Given the description of an element on the screen output the (x, y) to click on. 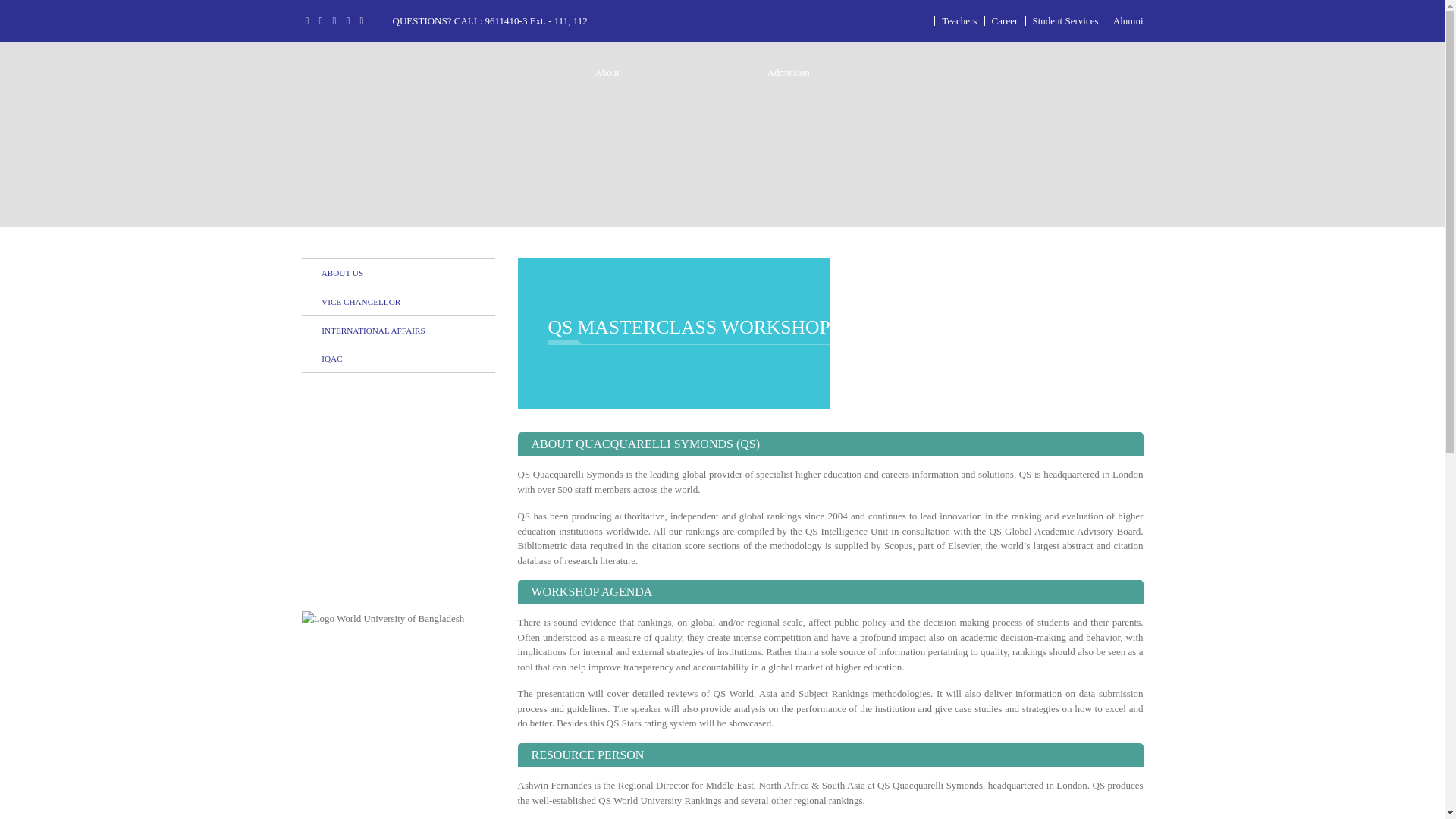
World University Bangladesh Facebook Page (307, 20)
World University Bangladesh Google Plus Page (334, 20)
World University Bangladesh Twitter Page (320, 20)
World University Bangladesh Youtube Page (362, 20)
Admission (787, 71)
World University Bangladesh Instagram Page (347, 20)
About (606, 71)
Logo World University of Bangladesh (382, 618)
Teachers (959, 20)
Career (1004, 20)
